Given the description of an element on the screen output the (x, y) to click on. 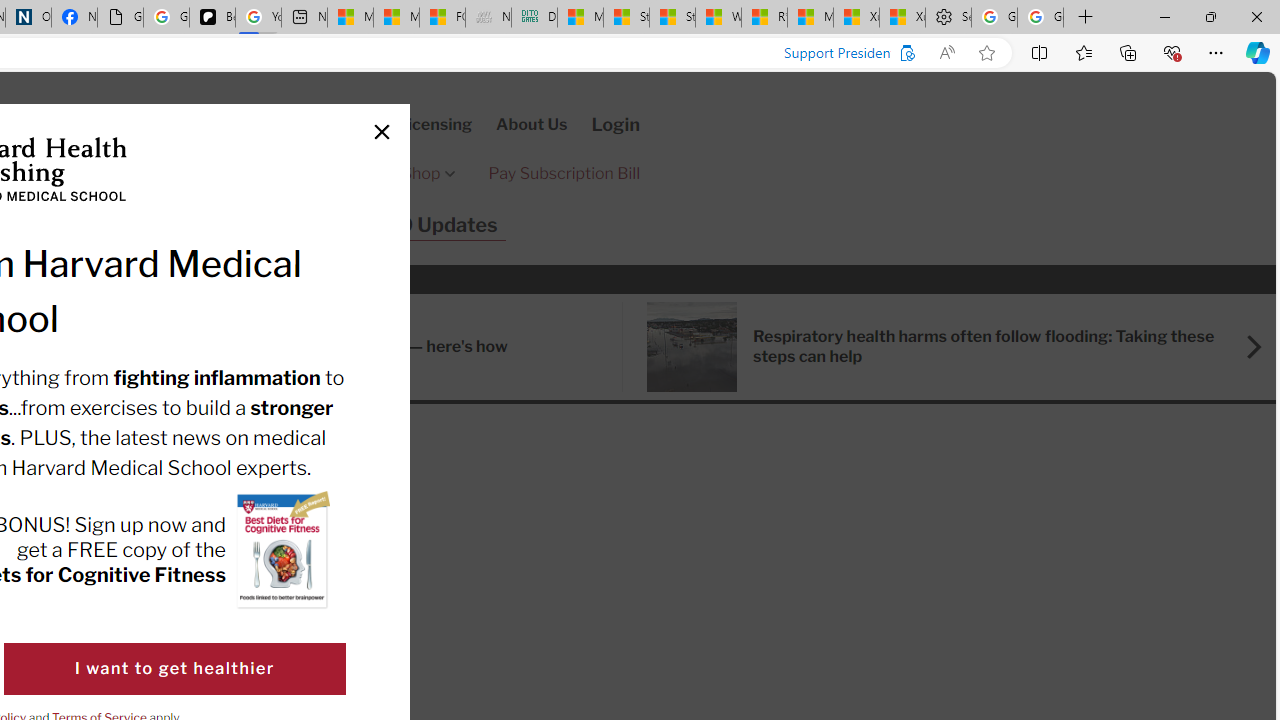
Next (1244, 346)
Pay Subscription Bill (563, 173)
Google Analytics Opt-out Browser Add-on Download Page (120, 17)
I want to get healthier (173, 668)
Support President & Fellows of Harvard College? (891, 53)
R******* | Trusted Community Engagement and Contributions (764, 17)
Free HealthBeat Signup (281, 173)
